Given the description of an element on the screen output the (x, y) to click on. 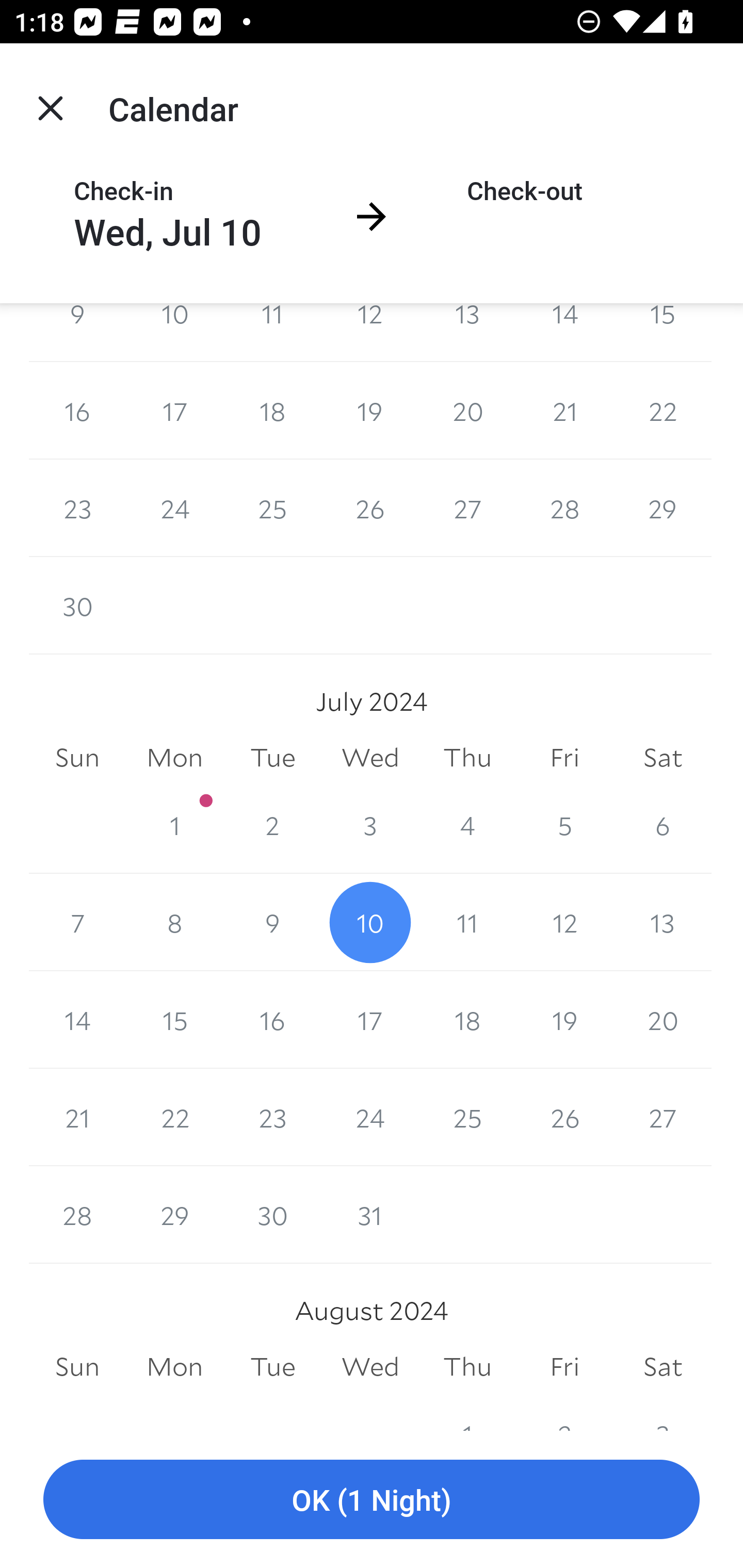
9 9 June 2024 (77, 332)
10 10 June 2024 (174, 332)
11 11 June 2024 (272, 332)
12 12 June 2024 (370, 332)
13 13 June 2024 (467, 332)
14 14 June 2024 (564, 332)
15 15 June 2024 (662, 332)
16 16 June 2024 (77, 410)
17 17 June 2024 (174, 410)
18 18 June 2024 (272, 410)
19 19 June 2024 (370, 410)
20 20 June 2024 (467, 410)
21 21 June 2024 (564, 410)
22 22 June 2024 (662, 410)
23 23 June 2024 (77, 507)
24 24 June 2024 (174, 507)
25 25 June 2024 (272, 507)
26 26 June 2024 (370, 507)
27 27 June 2024 (467, 507)
28 28 June 2024 (564, 507)
29 29 June 2024 (662, 507)
30 30 June 2024 (77, 604)
Sun (77, 757)
Mon (174, 757)
Tue (272, 757)
Wed (370, 757)
Thu (467, 757)
Fri (564, 757)
Sat (662, 757)
1 1 July 2024 (174, 824)
2 2 July 2024 (272, 824)
3 3 July 2024 (370, 824)
4 4 July 2024 (467, 824)
5 5 July 2024 (564, 824)
6 6 July 2024 (662, 824)
7 7 July 2024 (77, 921)
8 8 July 2024 (174, 921)
9 9 July 2024 (272, 921)
10 10 July 2024 (370, 921)
11 11 July 2024 (467, 921)
12 12 July 2024 (564, 921)
13 13 July 2024 (662, 921)
14 14 July 2024 (77, 1019)
15 15 July 2024 (174, 1019)
16 16 July 2024 (272, 1019)
17 17 July 2024 (370, 1019)
18 18 July 2024 (467, 1019)
19 19 July 2024 (564, 1019)
20 20 July 2024 (662, 1019)
21 21 July 2024 (77, 1117)
22 22 July 2024 (174, 1117)
23 23 July 2024 (272, 1117)
24 24 July 2024 (370, 1117)
25 25 July 2024 (467, 1117)
26 26 July 2024 (564, 1117)
27 27 July 2024 (662, 1117)
28 28 July 2024 (77, 1214)
29 29 July 2024 (174, 1214)
30 30 July 2024 (272, 1214)
31 31 July 2024 (370, 1214)
Sun (77, 1367)
Mon (174, 1367)
Tue (272, 1367)
Wed (370, 1367)
Thu (467, 1367)
Fri (564, 1367)
Sat (662, 1367)
OK (1 Night) (371, 1499)
